Given the description of an element on the screen output the (x, y) to click on. 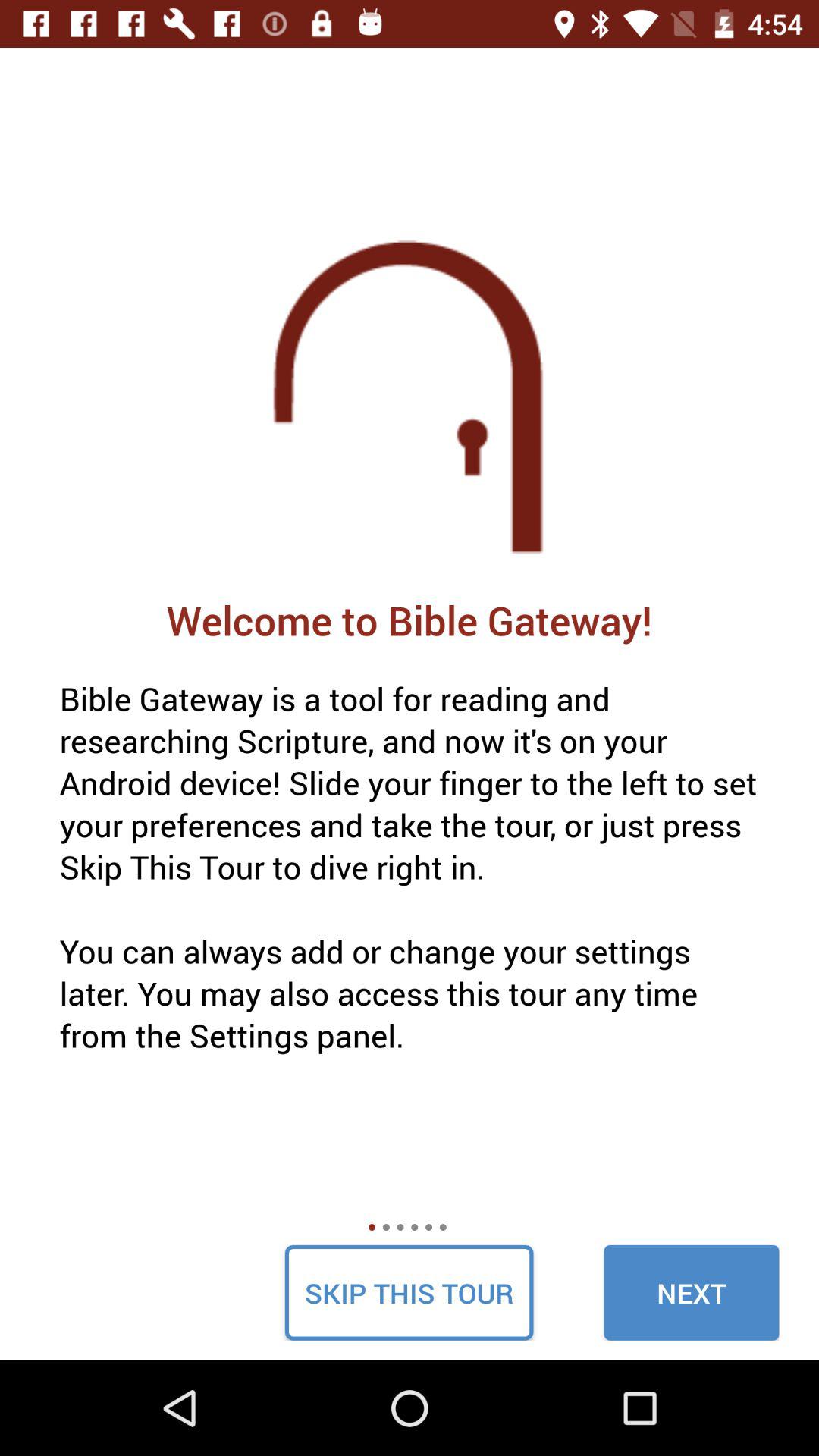
scroll until next icon (691, 1292)
